Given the description of an element on the screen output the (x, y) to click on. 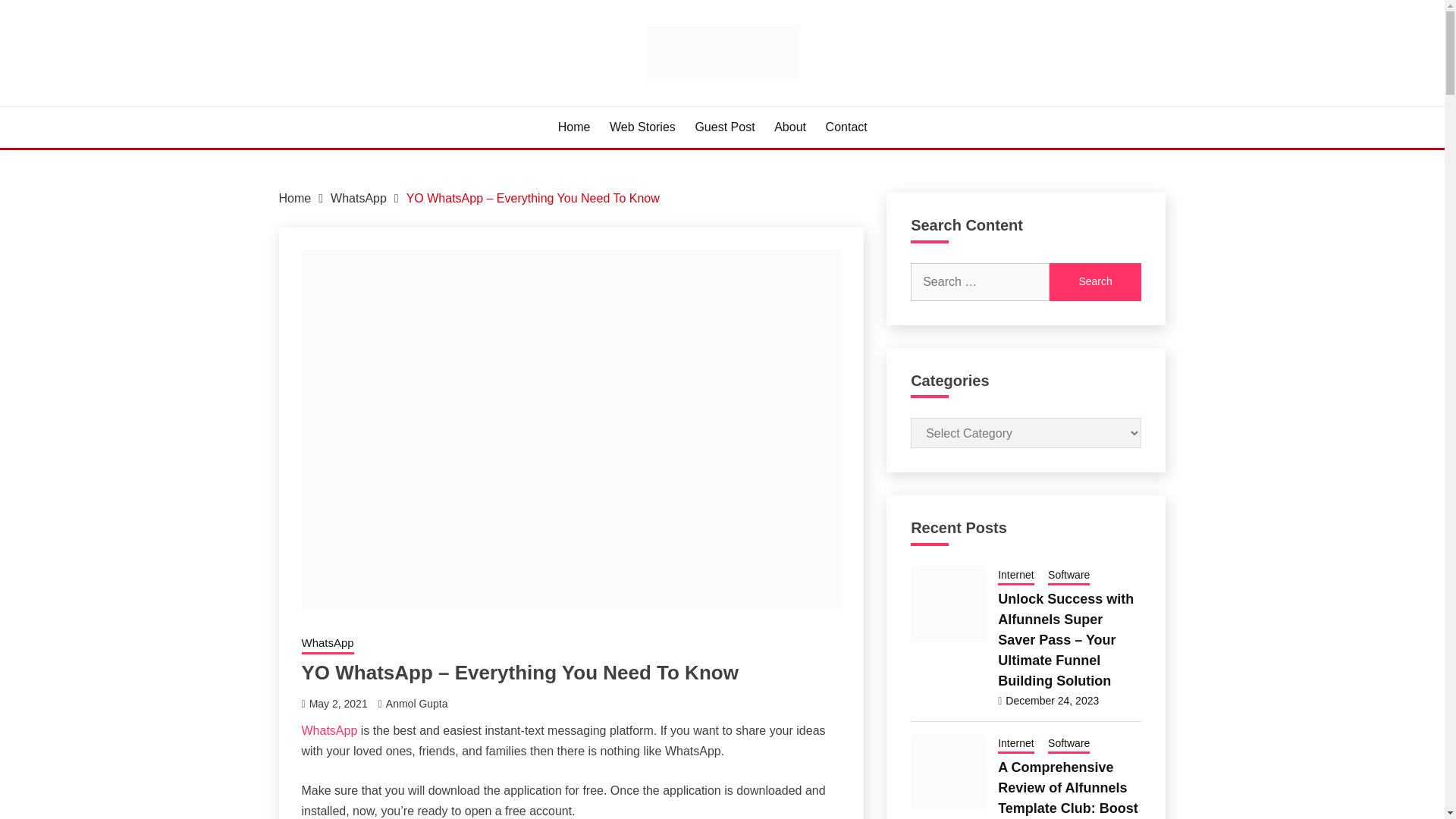
About (790, 126)
COREMAFIA (363, 103)
WhatsApp (358, 197)
WhatsApp (329, 730)
Anmol Gupta (416, 703)
Search (1095, 281)
Web Stories (642, 126)
Home (295, 197)
May 2, 2021 (338, 703)
Contact (846, 126)
